Given the description of an element on the screen output the (x, y) to click on. 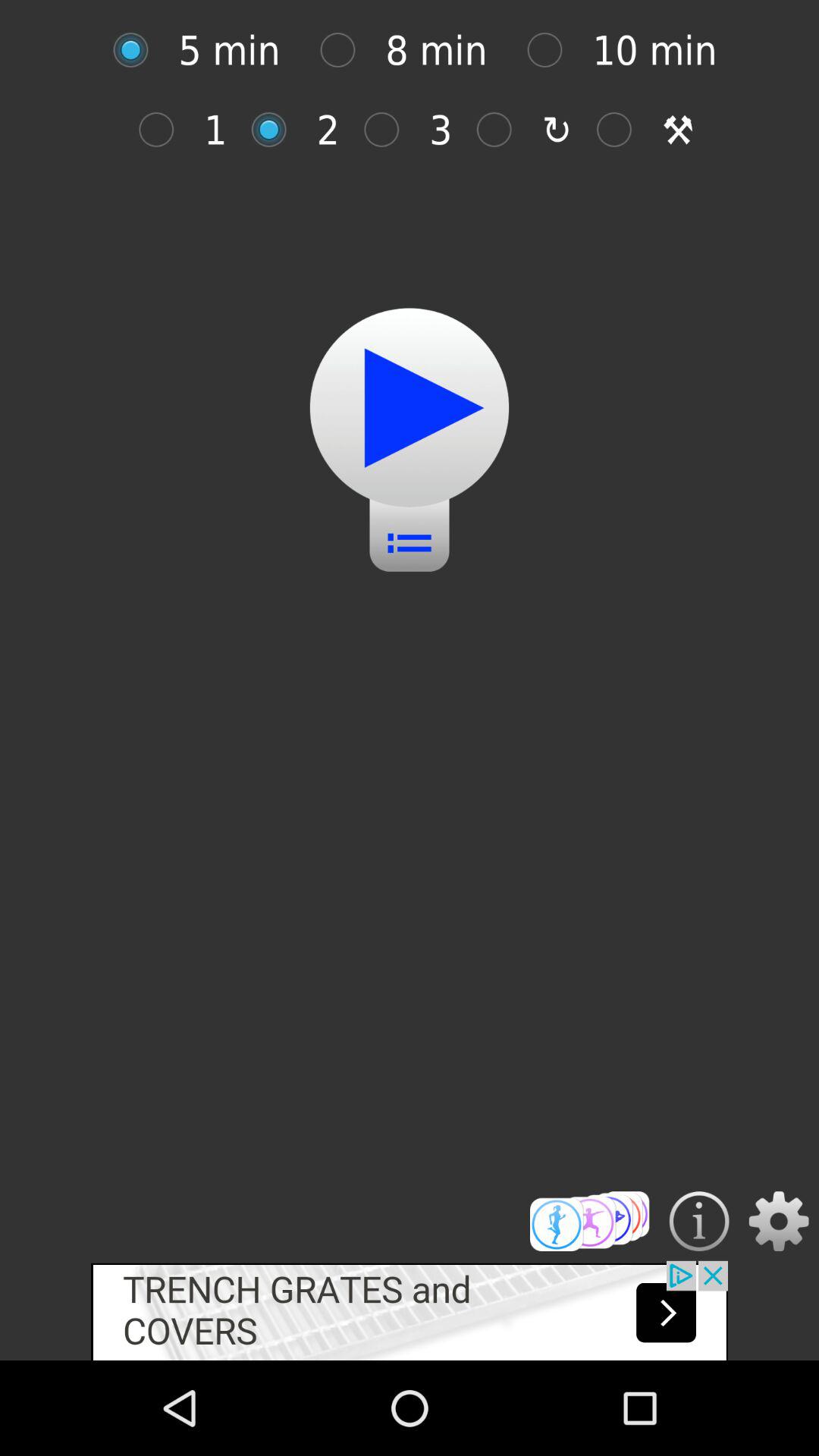
select 8 min (345, 49)
